Given the description of an element on the screen output the (x, y) to click on. 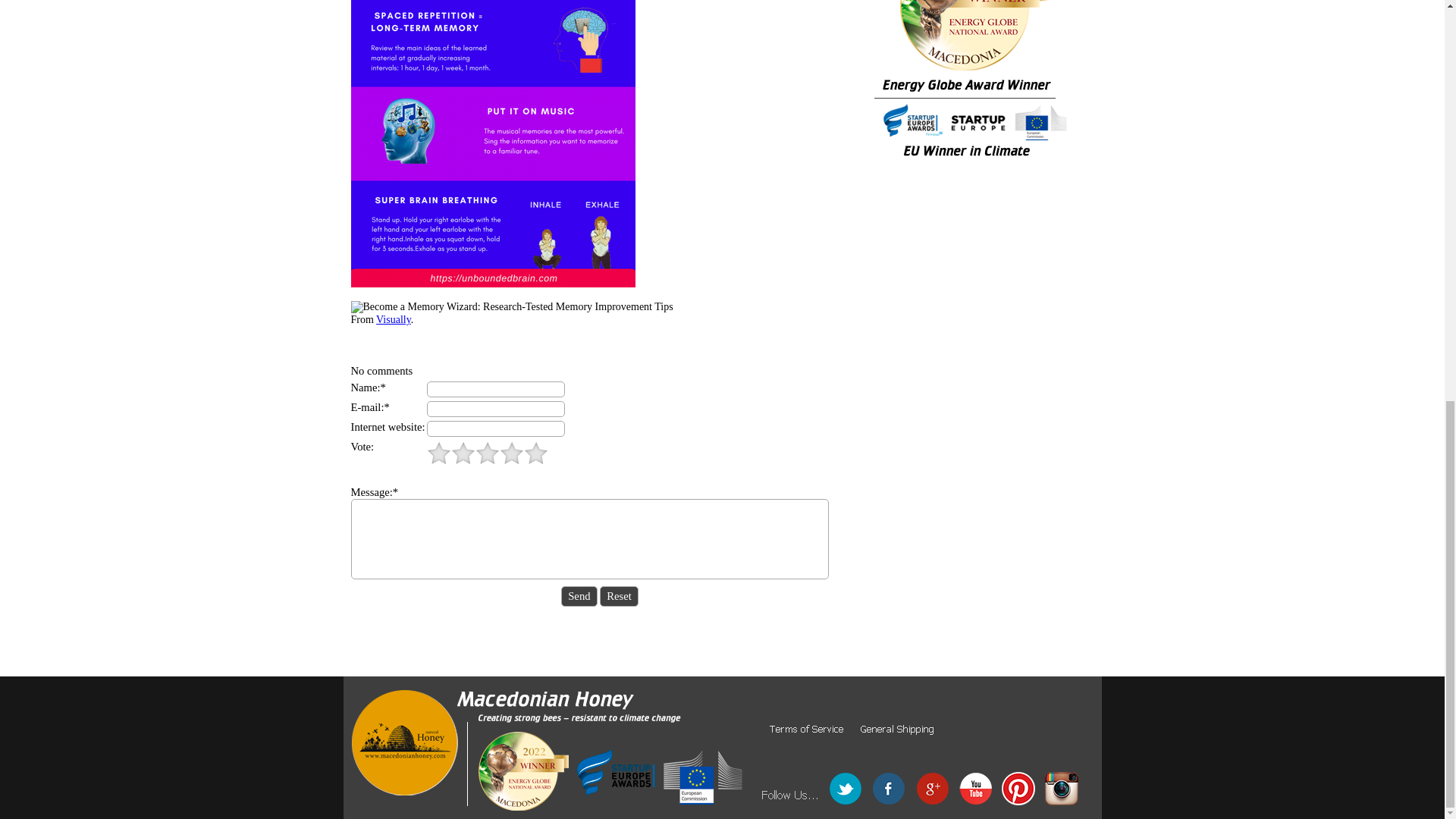
Reset (619, 596)
Send (578, 596)
Visually (392, 319)
